Given the description of an element on the screen output the (x, y) to click on. 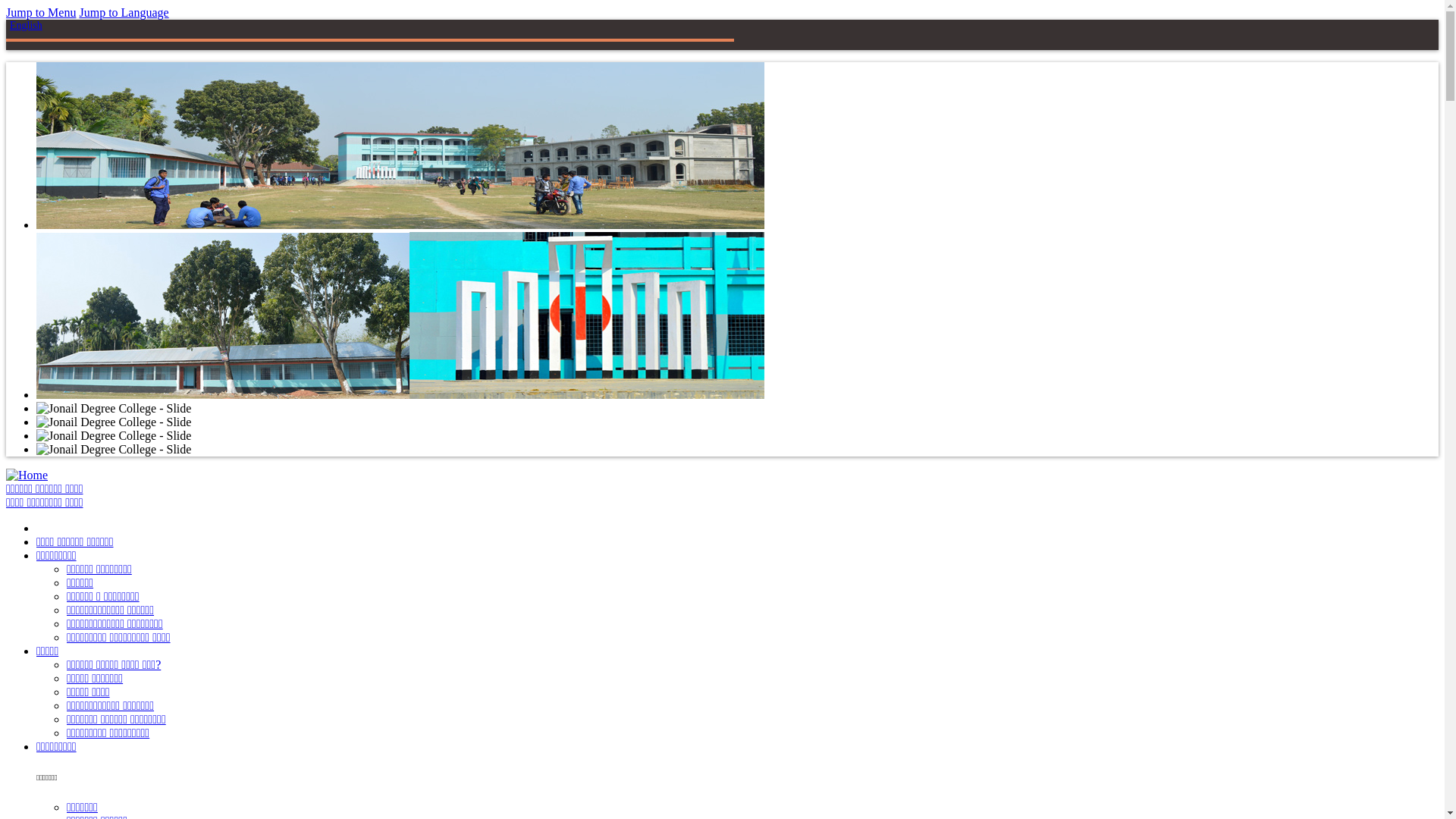
Jump to Menu Element type: text (40, 12)
Jump to Language Element type: text (123, 12)
English Element type: text (25, 25)
Home Element type: hover (26, 474)
